Given the description of an element on the screen output the (x, y) to click on. 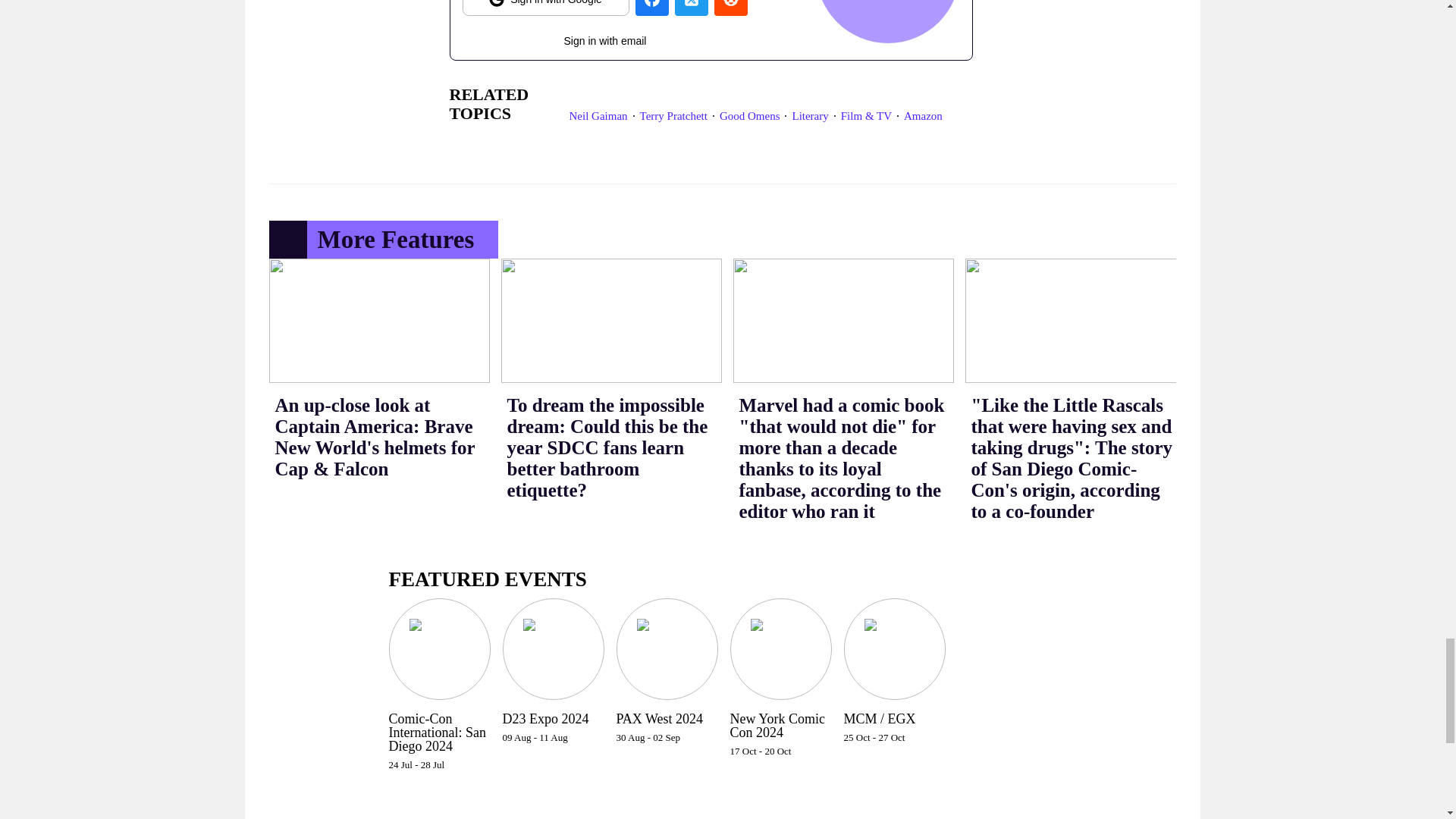
Sign in with email (605, 37)
facebook (651, 7)
google (545, 7)
Sign in with Google (545, 7)
Neil Gaiman (598, 115)
